Given the description of an element on the screen output the (x, y) to click on. 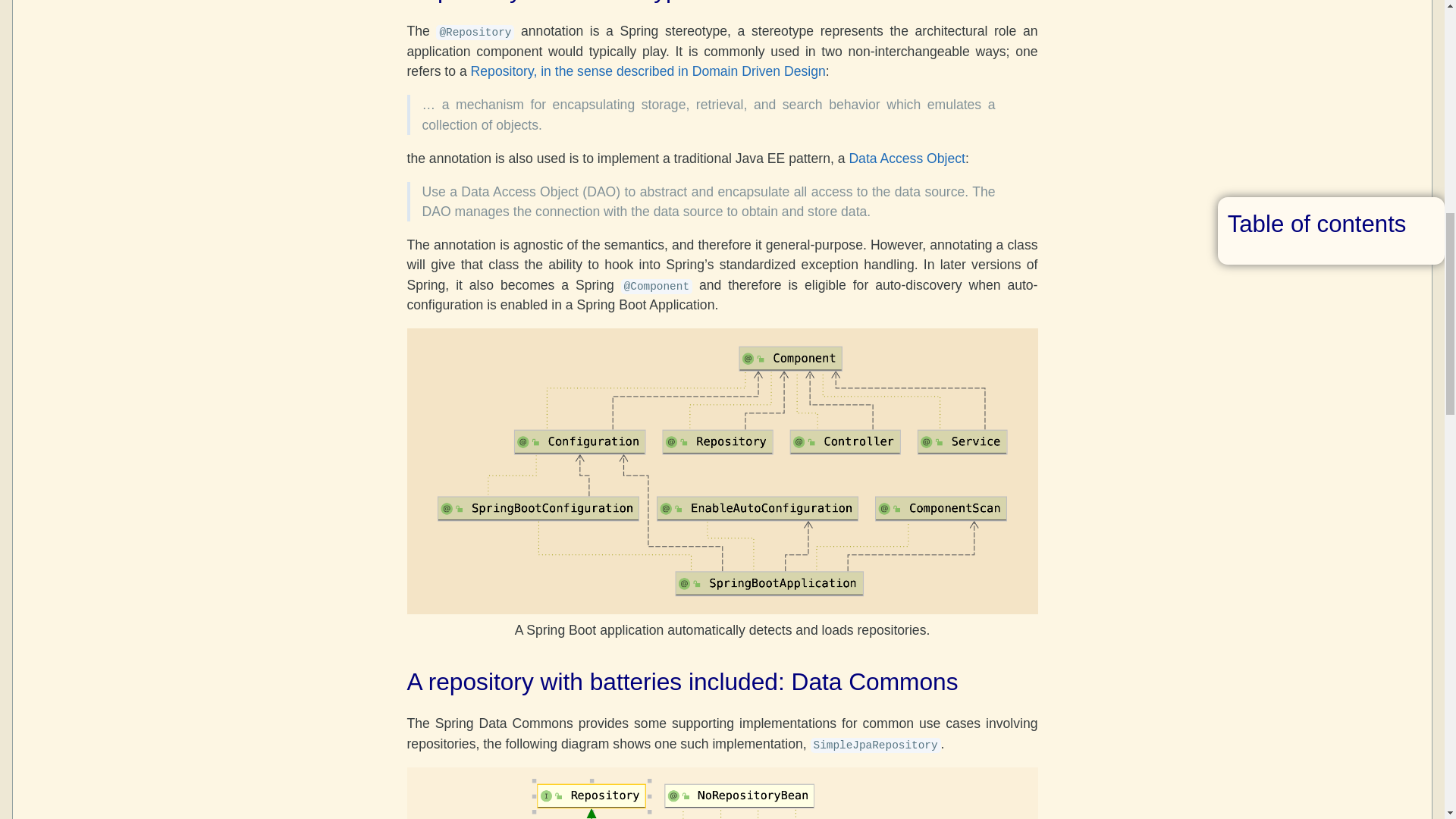
Data Access Object (906, 158)
Repository, in the sense described in Domain Driven Design (647, 70)
